Given the description of an element on the screen output the (x, y) to click on. 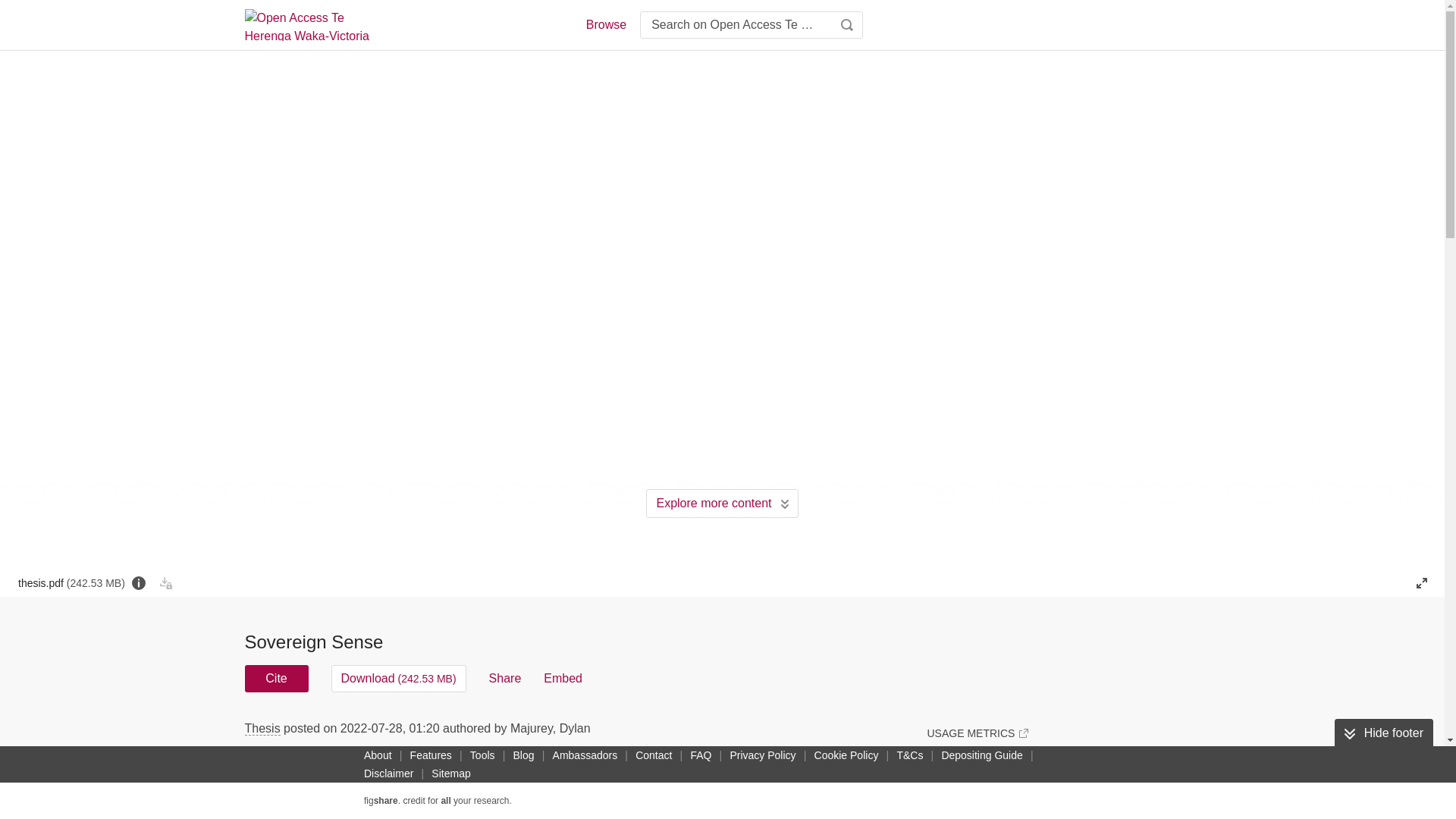
Embed (562, 678)
Browse (605, 24)
Cite (275, 678)
Share (505, 678)
Features (431, 755)
Tools (482, 755)
Blog (523, 755)
thesis.pdf (71, 583)
Hide footer (1383, 733)
Explore more content (721, 502)
USAGE METRICS (976, 732)
About (377, 755)
